Given the description of an element on the screen output the (x, y) to click on. 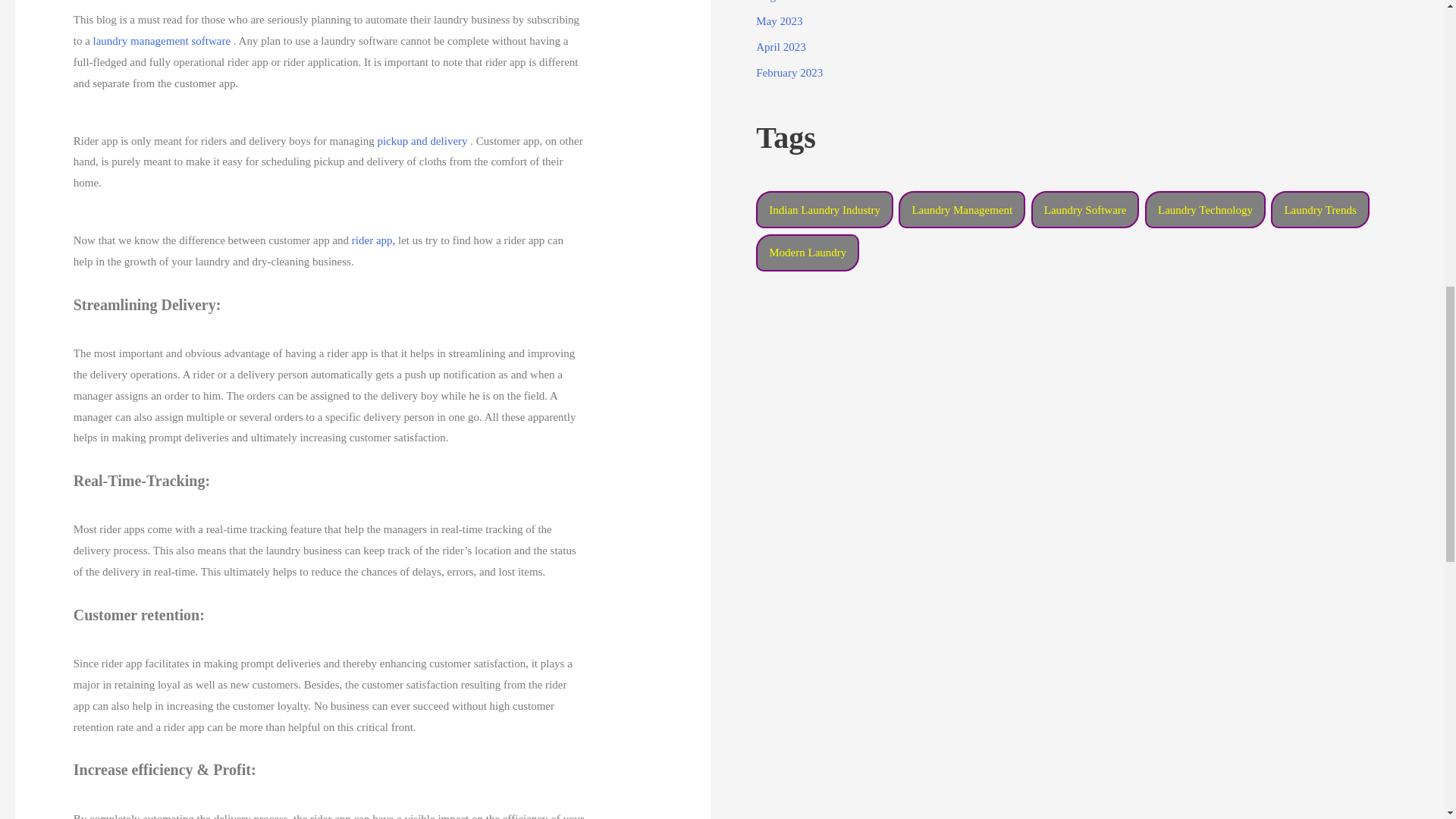
pickup and delivery (422, 141)
rider app, (371, 240)
laundry management software (160, 40)
